Given the description of an element on the screen output the (x, y) to click on. 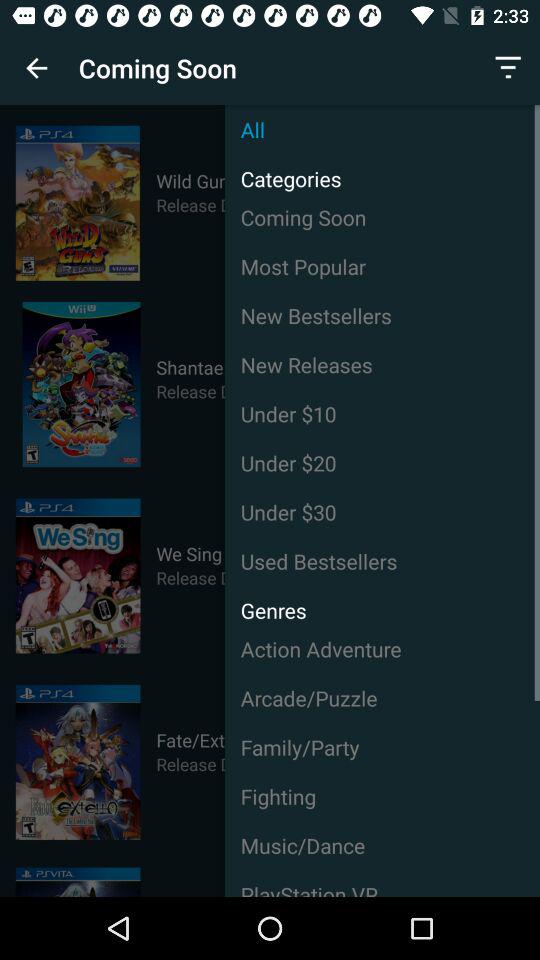
open the used bestsellers icon (382, 561)
